Given the description of an element on the screen output the (x, y) to click on. 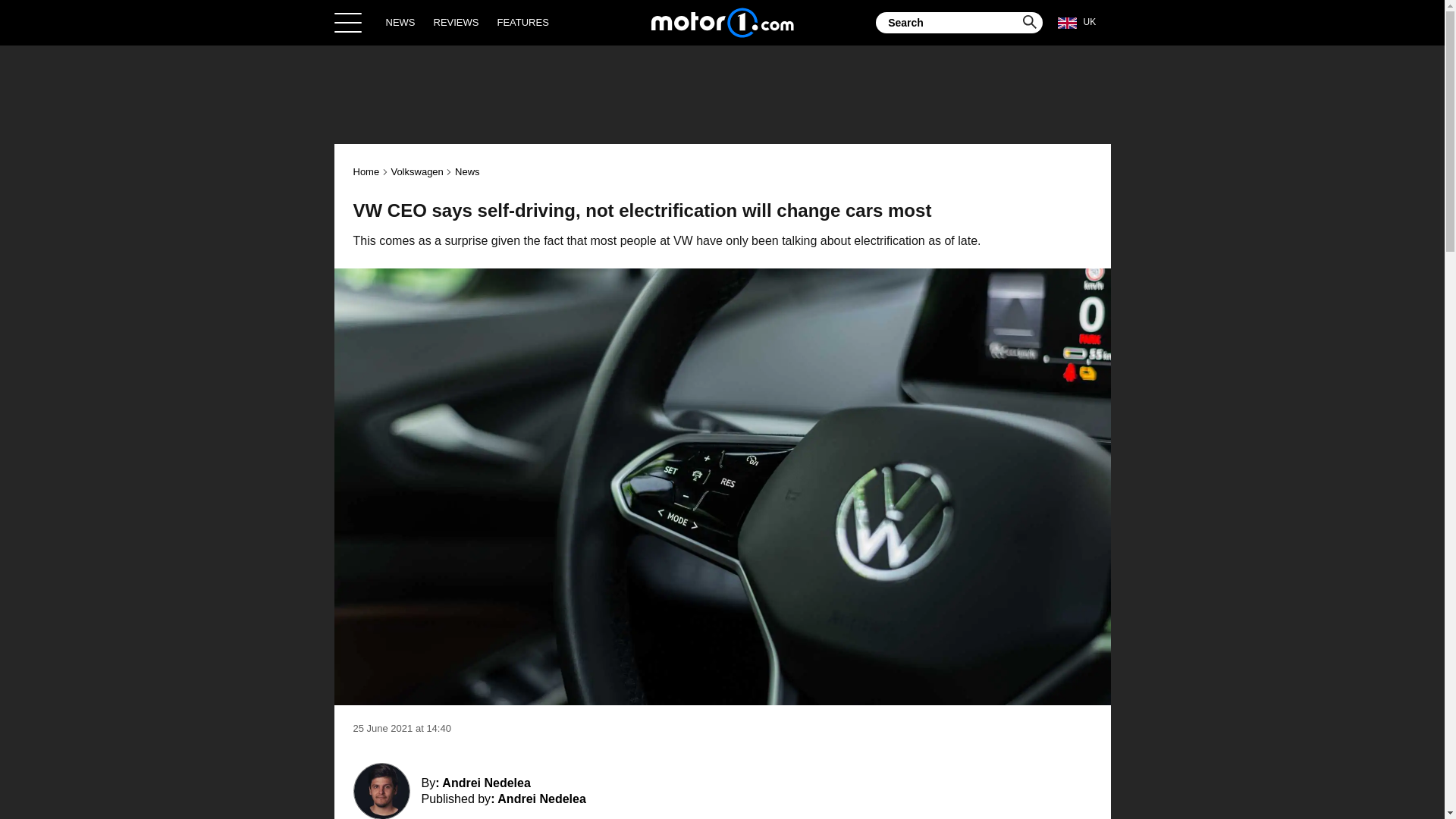
Andrei Nedelea (541, 798)
Home (366, 171)
Home (721, 22)
NEWS (399, 22)
Volkswagen (416, 171)
REVIEWS (456, 22)
News (467, 171)
FEATURES (522, 22)
